Given the description of an element on the screen output the (x, y) to click on. 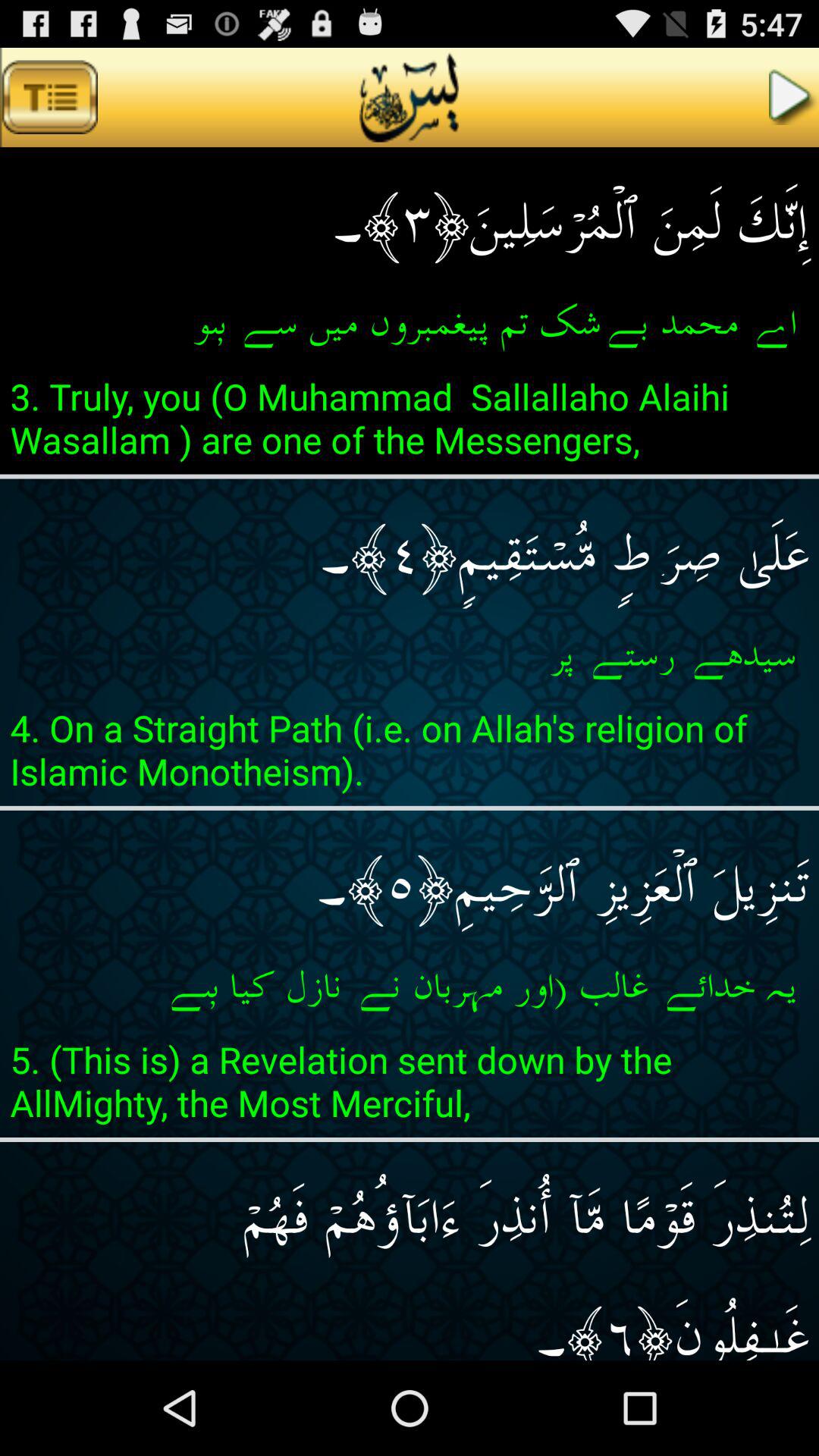
select item below 3 truly you item (409, 543)
